Given the description of an element on the screen output the (x, y) to click on. 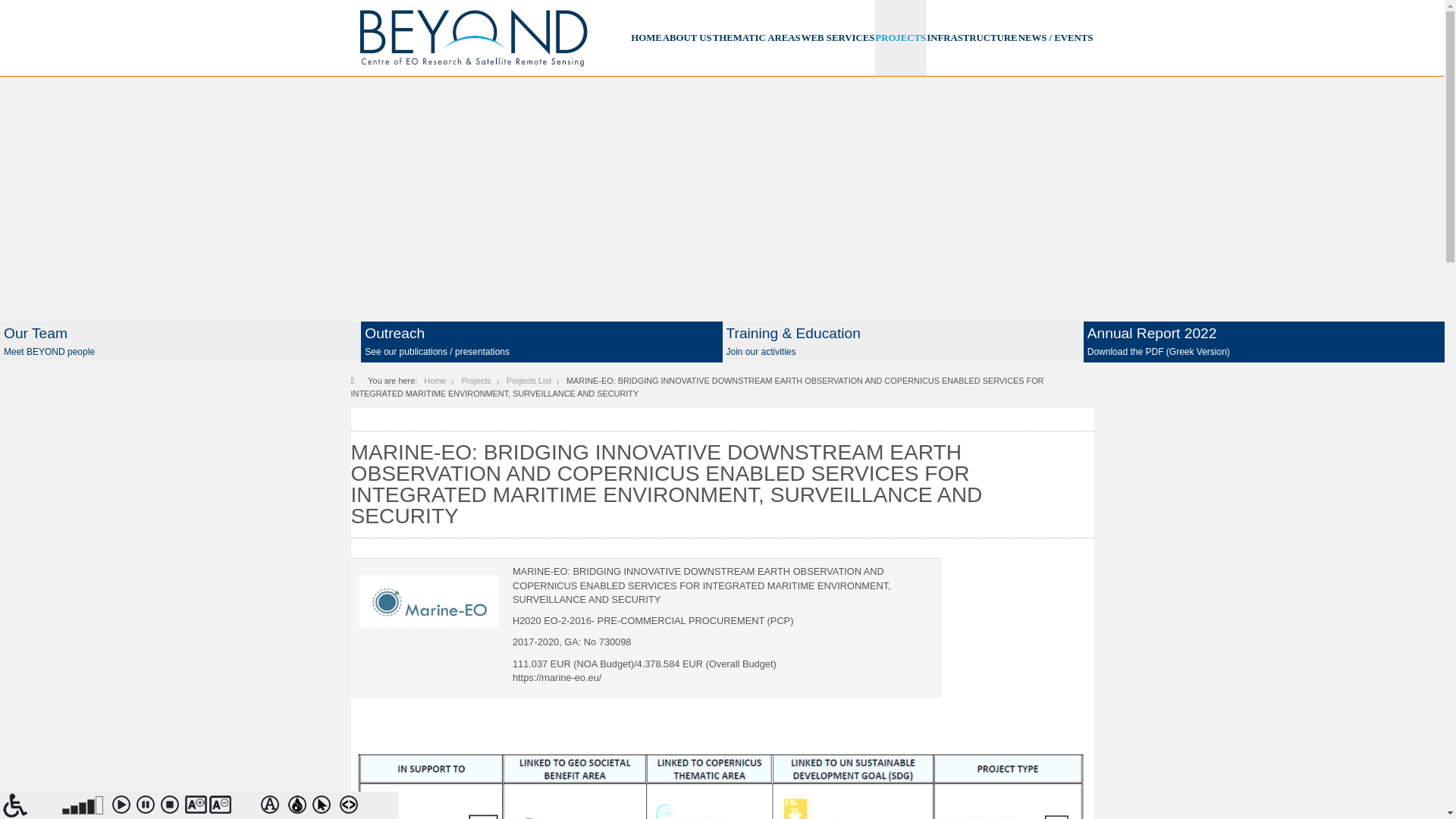
 - Stop -  (172, 807)
 - Play -  (124, 807)
WEB SERVICES (838, 38)
INFRASTRUCTURE (971, 38)
 - Dyslexic font -  (272, 807)
 - Screen Reader -  (30, 805)
THEMATIC AREAS (756, 38)
 - Reset -  (244, 807)
 - Increase -  (196, 807)
 - Decrease -  (220, 807)
 - Pause -  (148, 807)
